Given the description of an element on the screen output the (x, y) to click on. 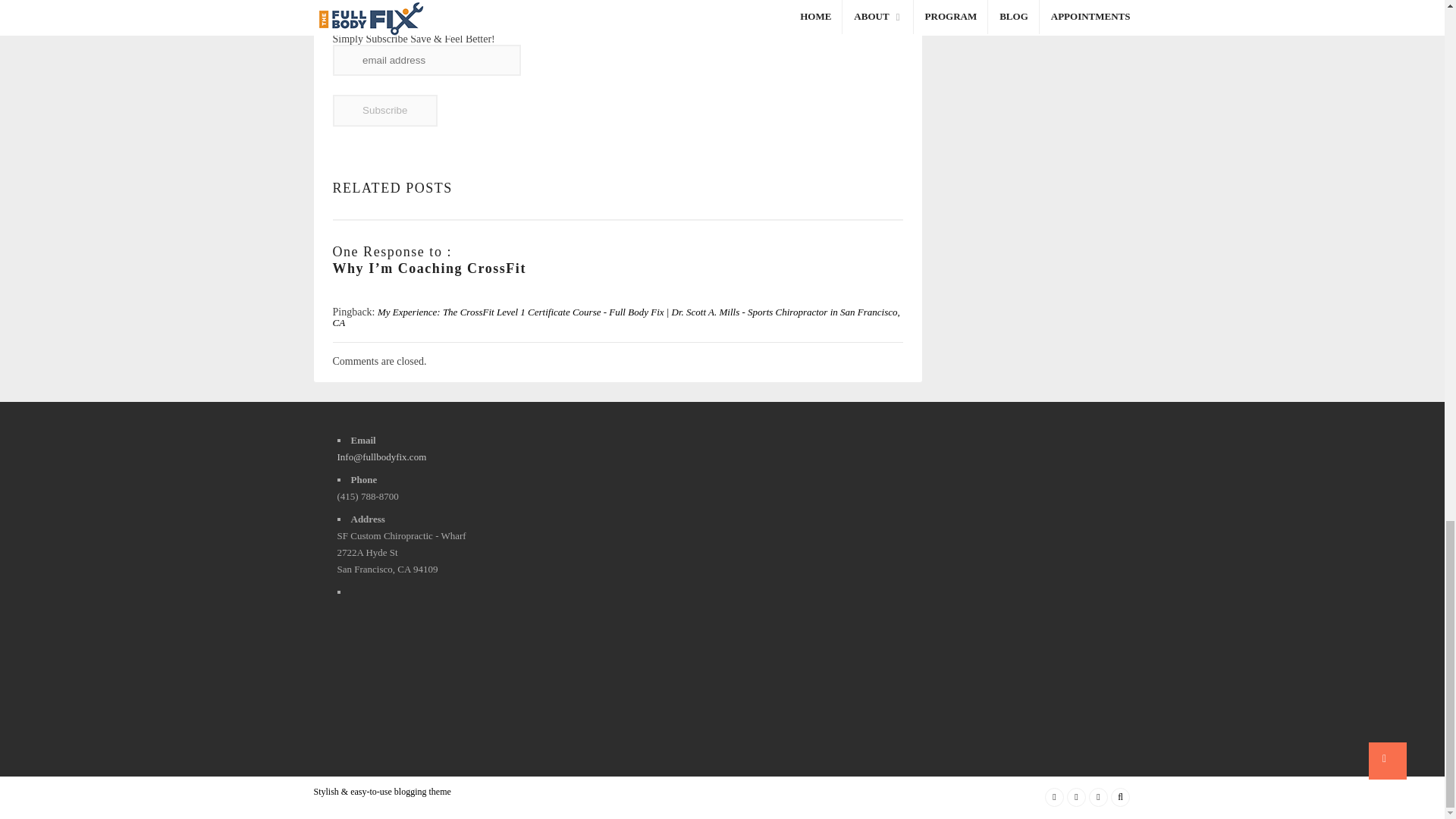
Subscribe (383, 110)
The Full Body Fix (731, 4)
Subscribe (383, 110)
Search The Site (1119, 796)
Instagram (1098, 796)
Facebook (1054, 796)
Twitter (1074, 796)
